Given the description of an element on the screen output the (x, y) to click on. 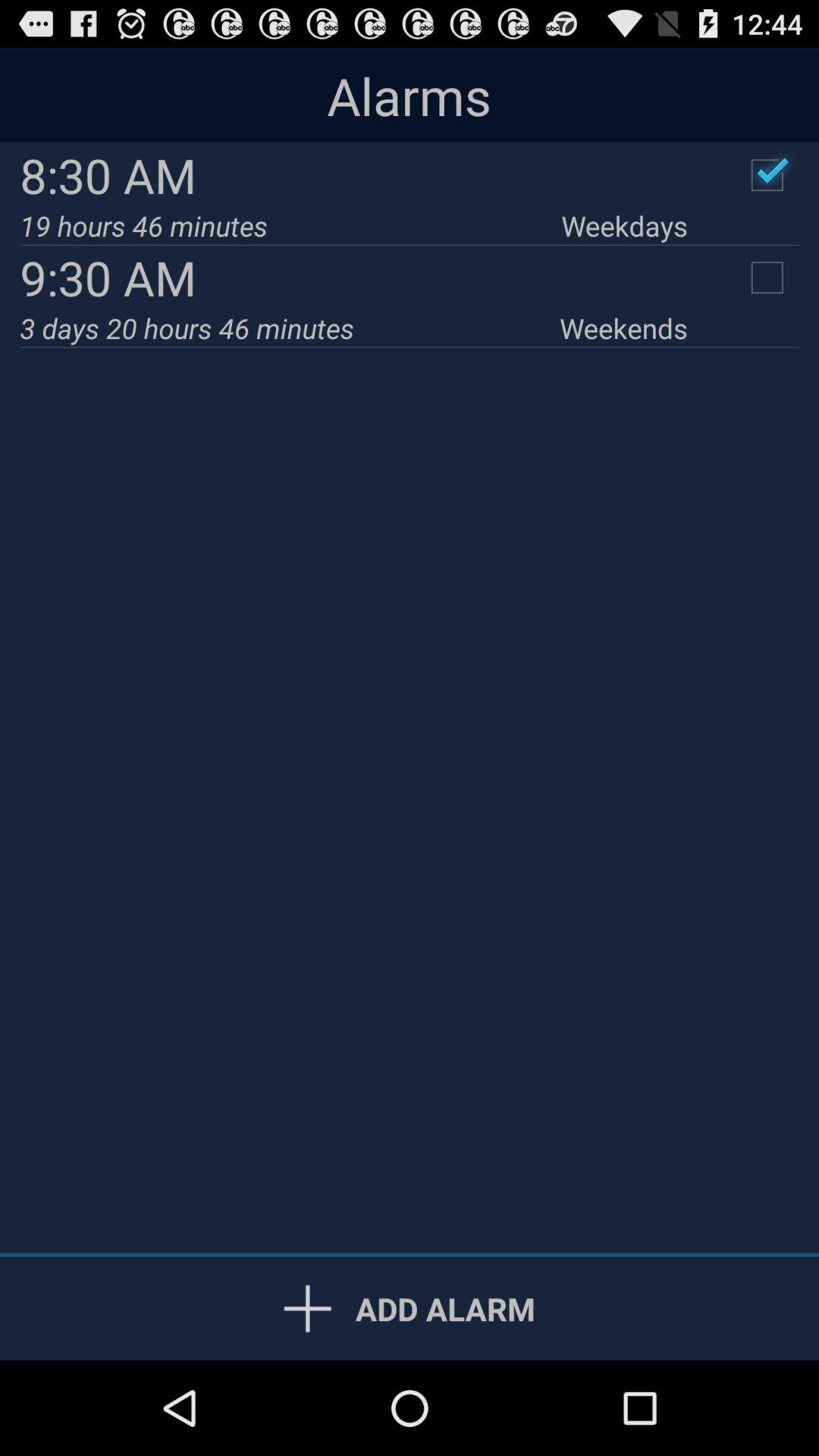
press the weekends (623, 327)
